Given the description of an element on the screen output the (x, y) to click on. 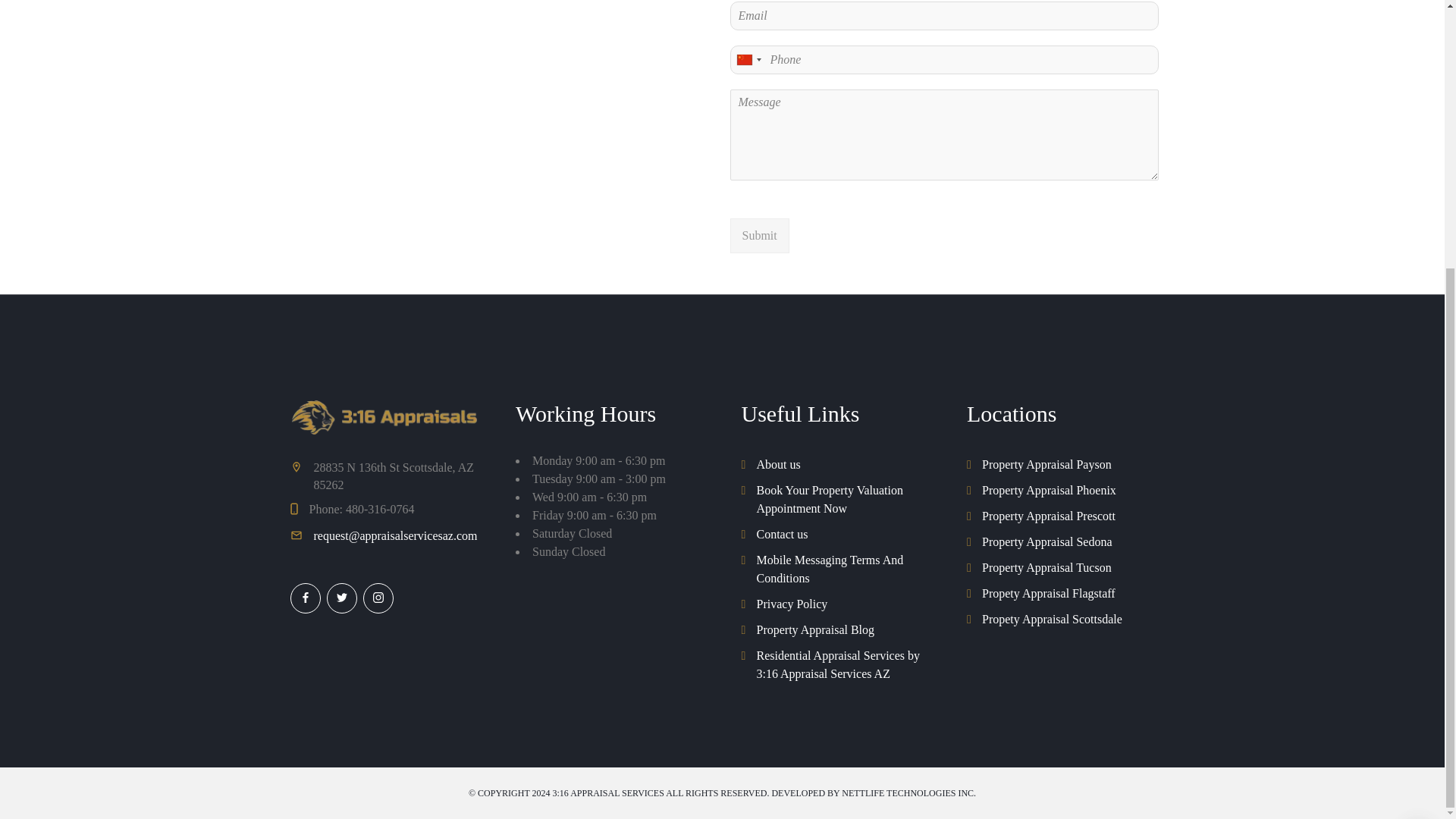
28835 N 136th St Scottsdale, AZ 85262 USA (500, 130)
About us (770, 464)
Submit (759, 235)
Book Your Property Valuation Appointment Now (835, 499)
Mobile Messaging Terms And Conditions (835, 569)
Contact us (774, 534)
